Given the description of an element on the screen output the (x, y) to click on. 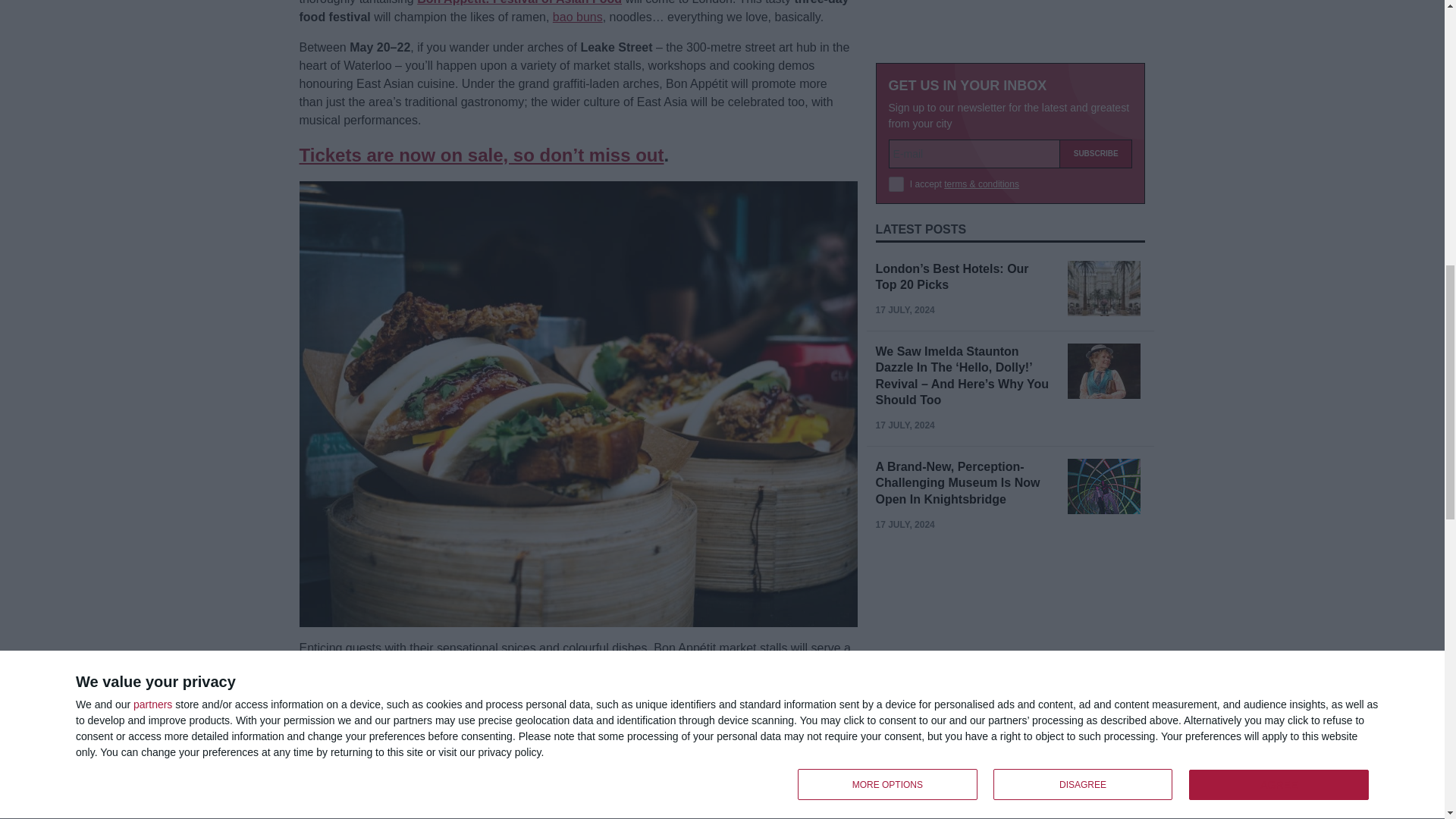
bao buns (577, 16)
